Given the description of an element on the screen output the (x, y) to click on. 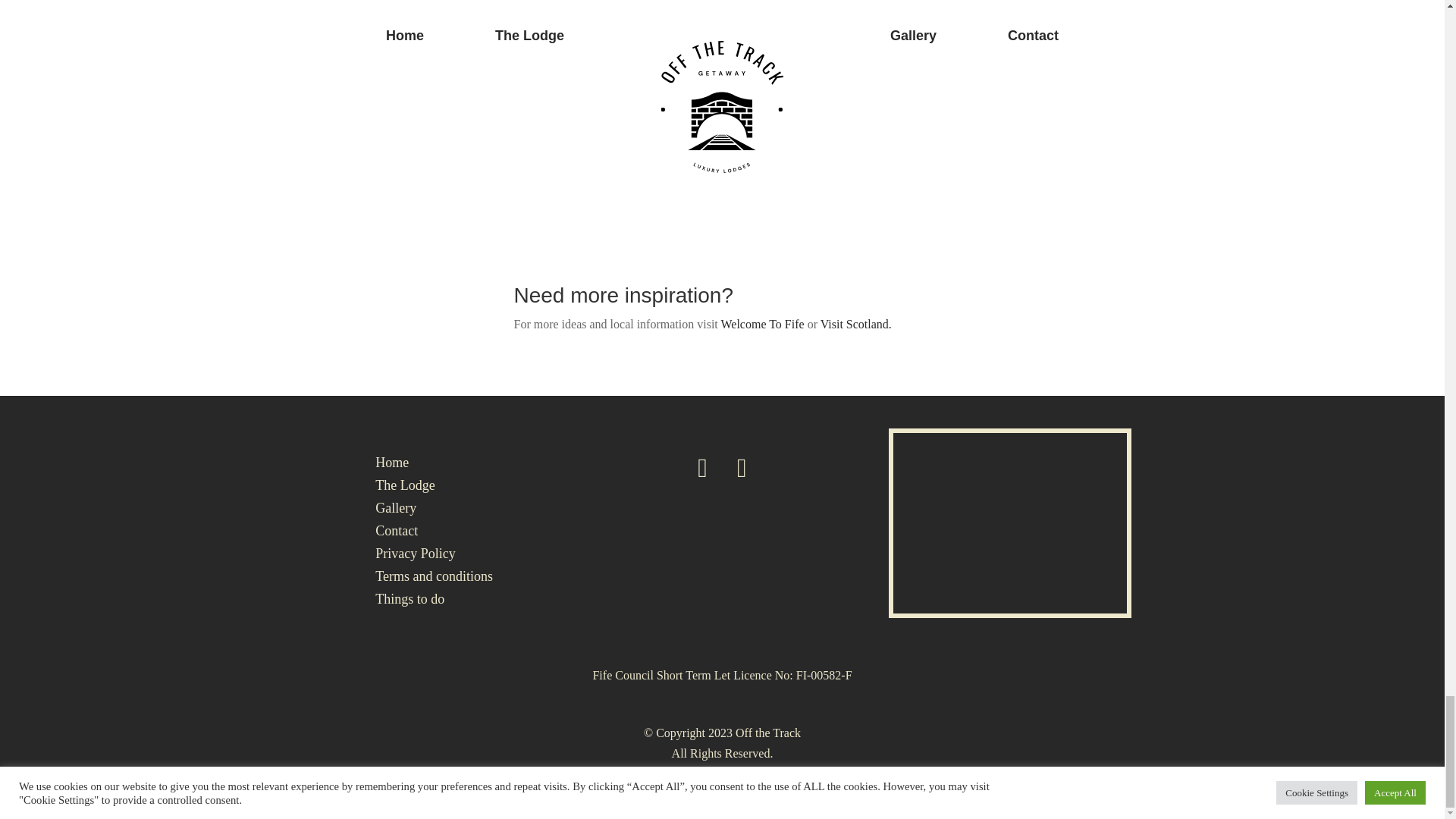
Gallery (395, 510)
Contact (396, 533)
Privacy Policy (415, 556)
Welcome To Fife (763, 323)
Visit Scotland. (856, 323)
The Lodge (404, 487)
Terms and conditions (434, 579)
Things to do (409, 601)
Home (392, 465)
